Given the description of an element on the screen output the (x, y) to click on. 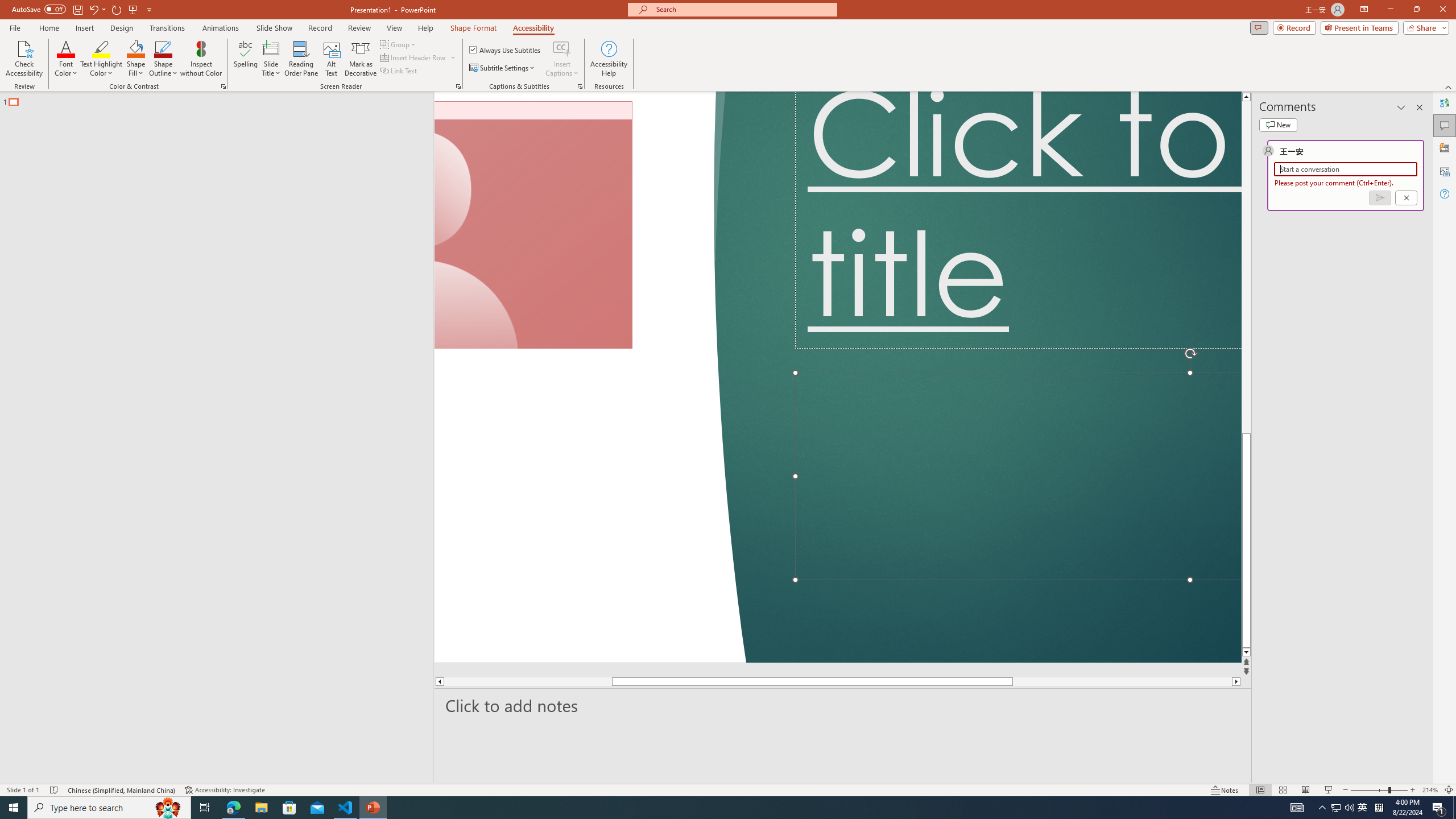
Inspect without Color (201, 58)
Shape Format (473, 28)
Page down (1047, 681)
Accessibility (533, 28)
Spelling... (245, 58)
Accessibility Checker Accessibility: Investigate (226, 790)
